Given the description of an element on the screen output the (x, y) to click on. 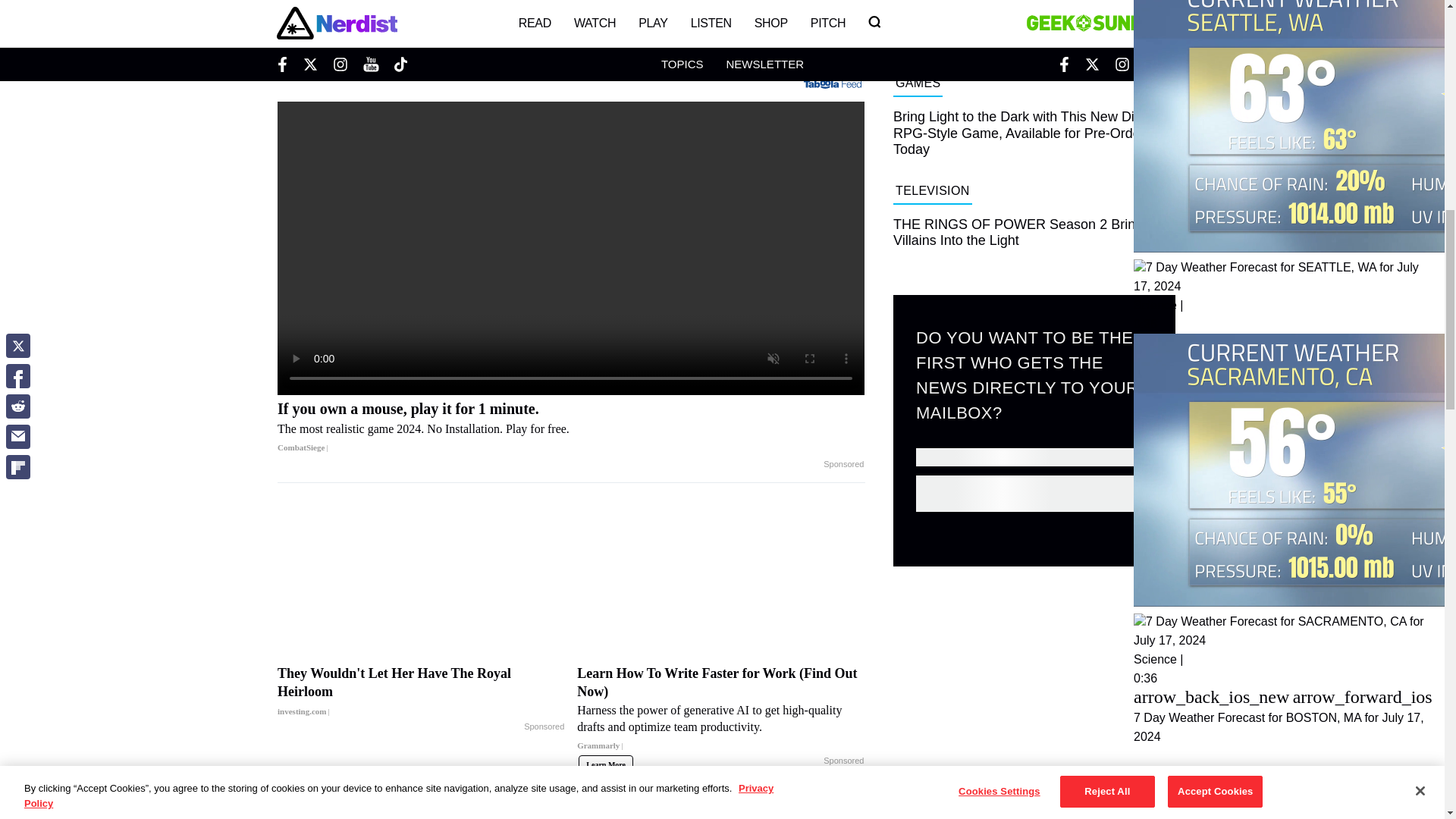
Read More (570, 54)
